Given the description of an element on the screen output the (x, y) to click on. 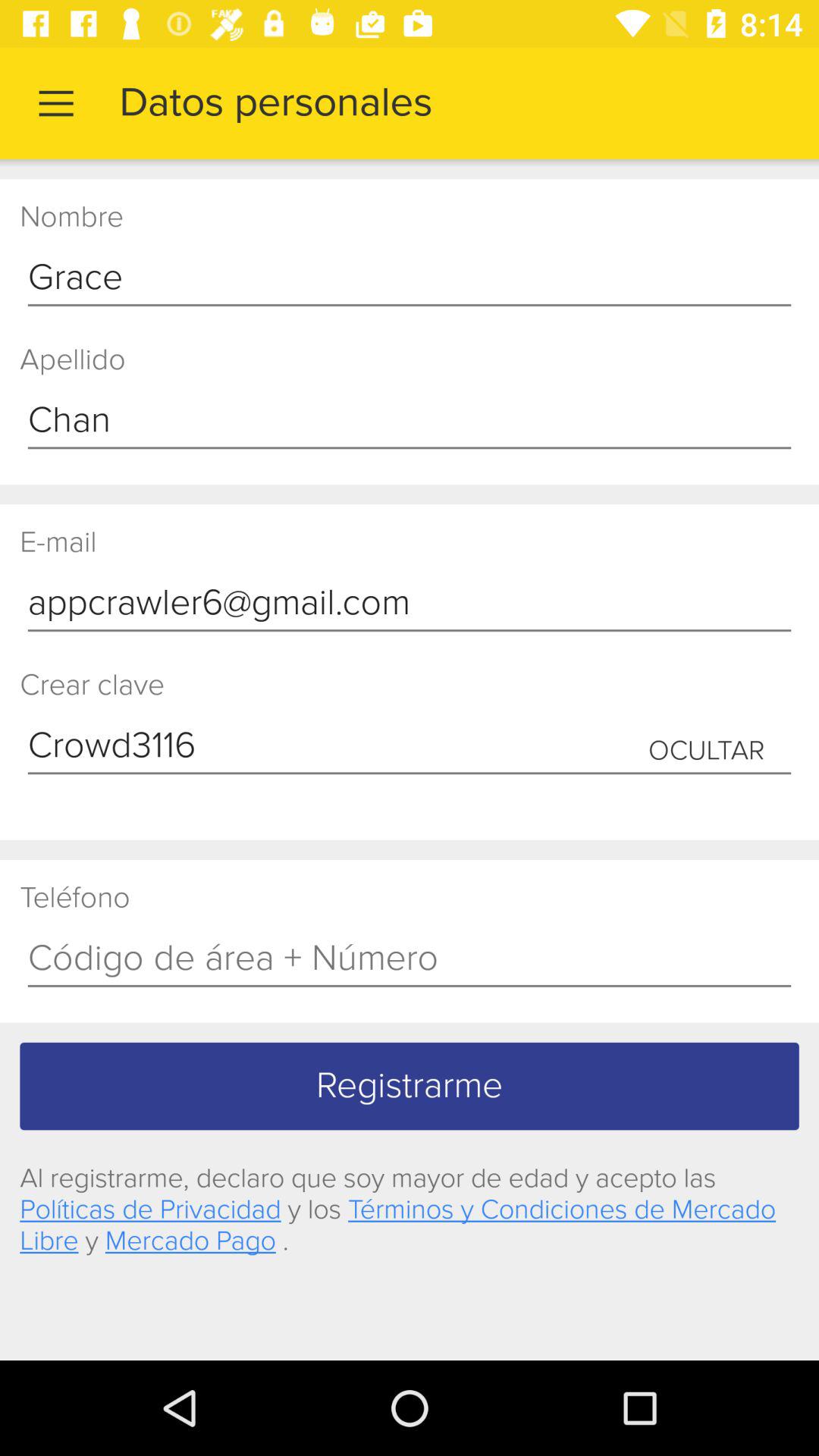
enter phone number (409, 959)
